Given the description of an element on the screen output the (x, y) to click on. 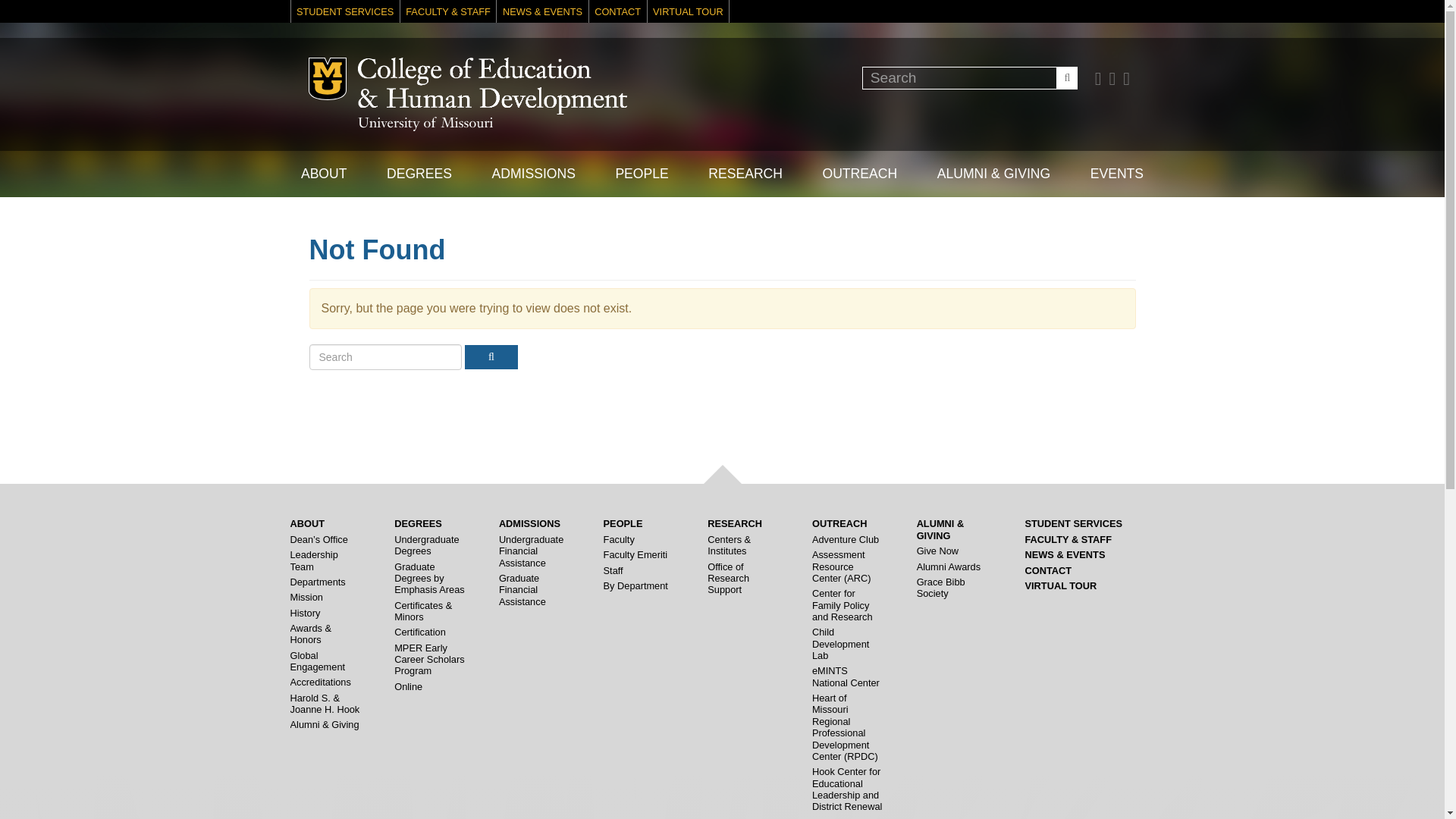
SEARCH (1067, 77)
VIRTUAL TOUR (688, 11)
CONTACT (617, 11)
PEOPLE (640, 173)
STUDENT SERVICES (344, 11)
Search: (384, 356)
ABOUT (323, 173)
ADMISSIONS (532, 173)
University of Missouri (425, 124)
Search: (969, 77)
